Given the description of an element on the screen output the (x, y) to click on. 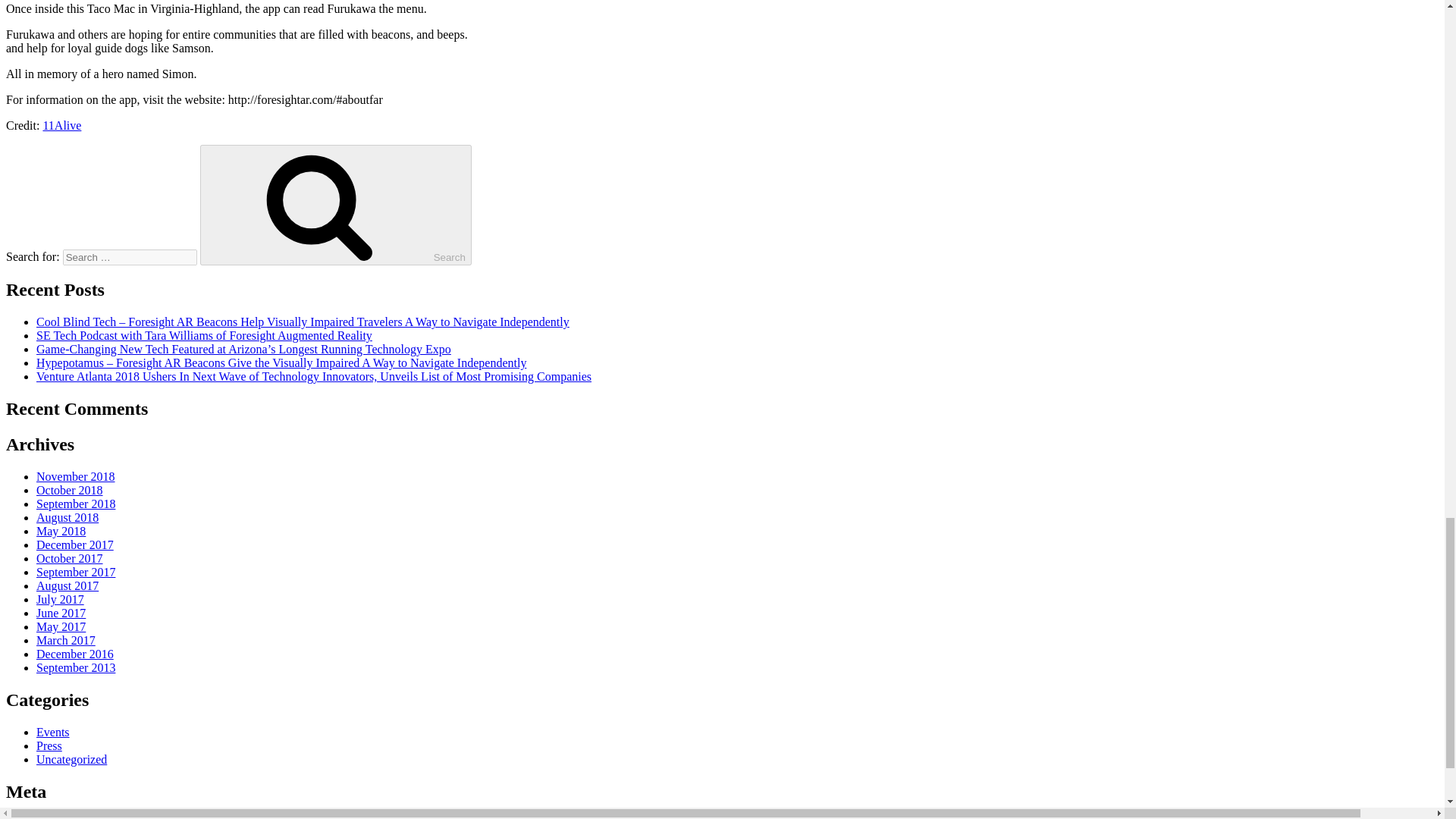
June 2017 (60, 612)
November 2018 (75, 476)
September 2013 (75, 667)
May 2017 (60, 626)
December 2017 (74, 544)
Events (52, 731)
Register (56, 818)
11Alive (61, 124)
September 2017 (75, 571)
October 2018 (69, 490)
Press (49, 745)
August 2018 (67, 517)
July 2017 (60, 599)
August 2017 (67, 585)
